Given the description of an element on the screen output the (x, y) to click on. 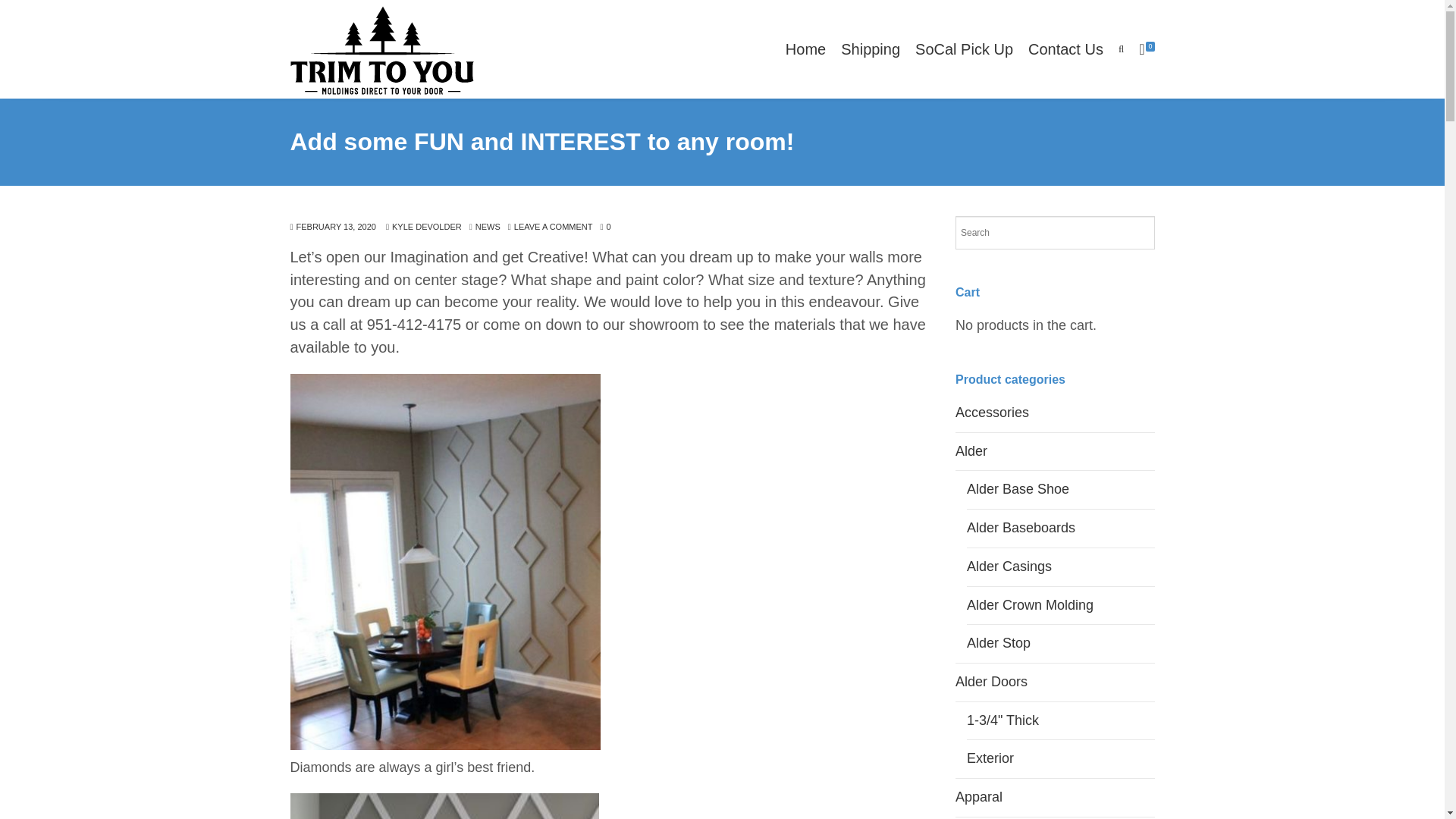
0 (1142, 49)
SoCal Pick Up (963, 49)
0 (605, 227)
KYLE DEVOLDER (423, 227)
Accessories (992, 412)
NEWS (488, 227)
FEBRUARY 13, 2020 (332, 227)
LEAVE A COMMENT (550, 227)
Contact Us (1065, 49)
Shipping (869, 49)
Home (804, 49)
